Given the description of an element on the screen output the (x, y) to click on. 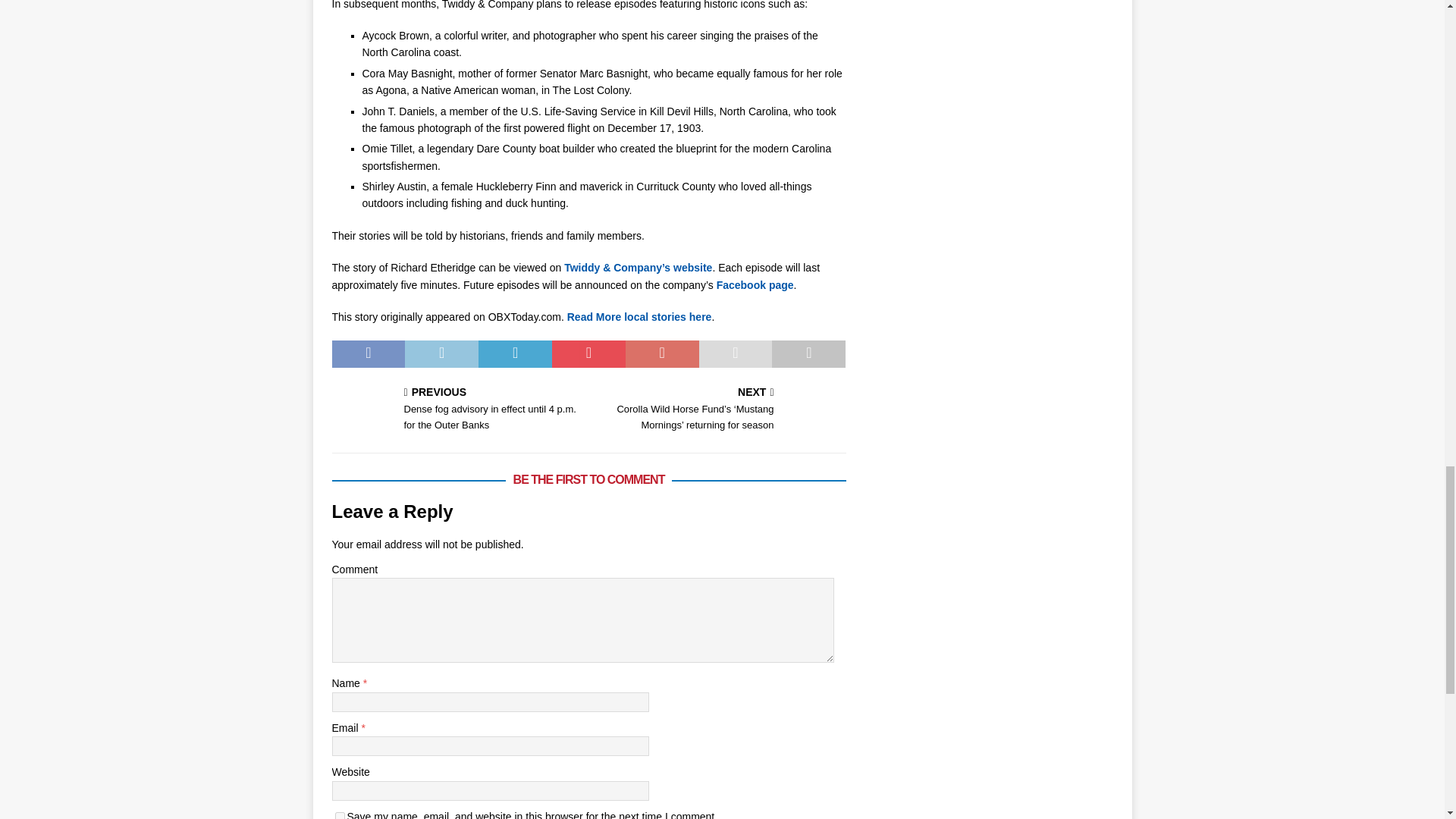
Read More local stories here (639, 316)
Facebook page (754, 285)
yes (339, 815)
